Given the description of an element on the screen output the (x, y) to click on. 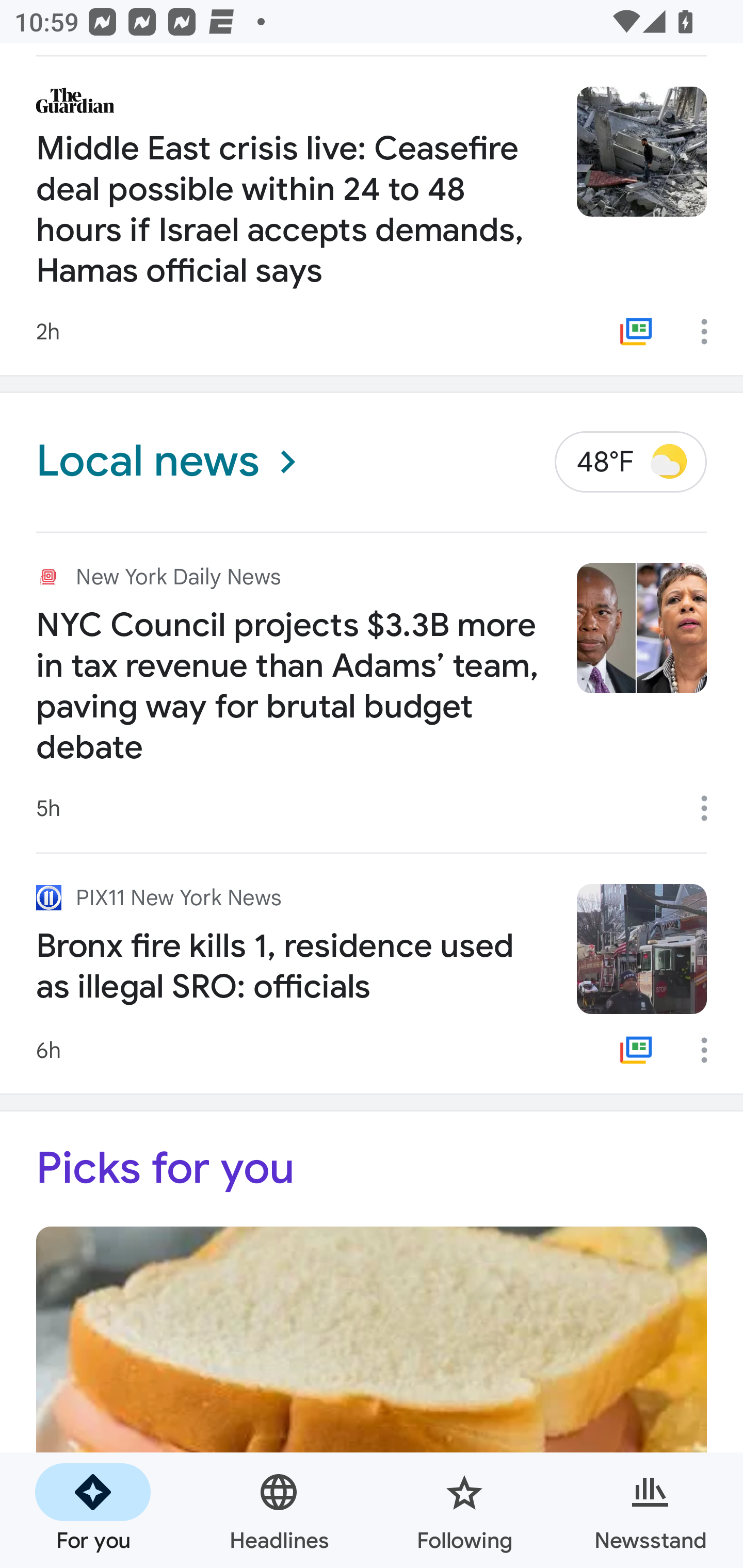
More options (711, 331)
More options (711, 808)
More options (711, 1049)
For you (92, 1509)
Headlines (278, 1509)
Following (464, 1509)
Newsstand (650, 1509)
